Given the description of an element on the screen output the (x, y) to click on. 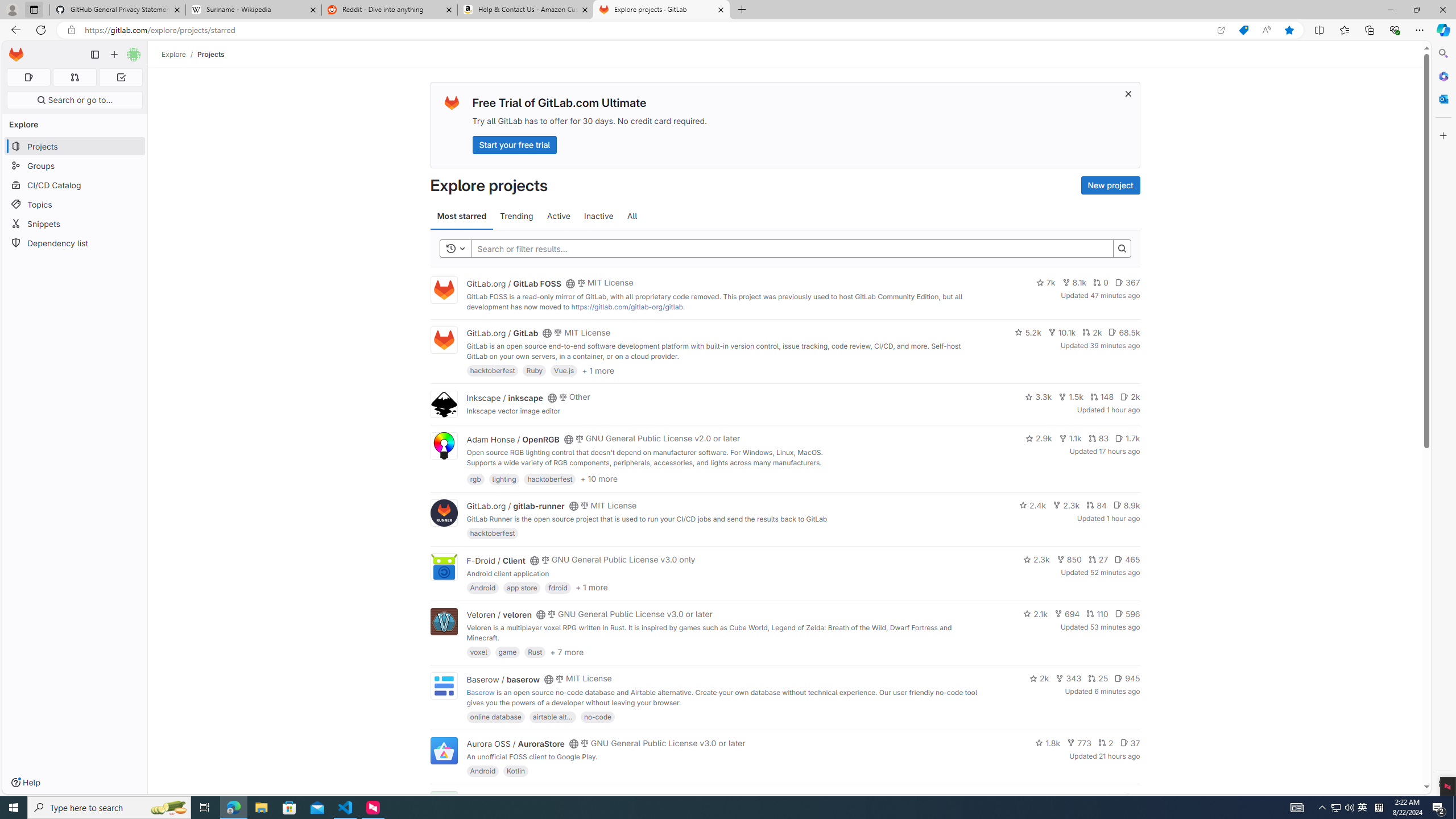
Aurora OSS / AuroraStore (514, 743)
hacktoberfest (492, 533)
Android (482, 770)
+ 7 more (566, 651)
Class: s14 gl-mr-2 (1128, 796)
lighting (504, 478)
no-code (597, 715)
1.8k (1048, 742)
